Given the description of an element on the screen output the (x, y) to click on. 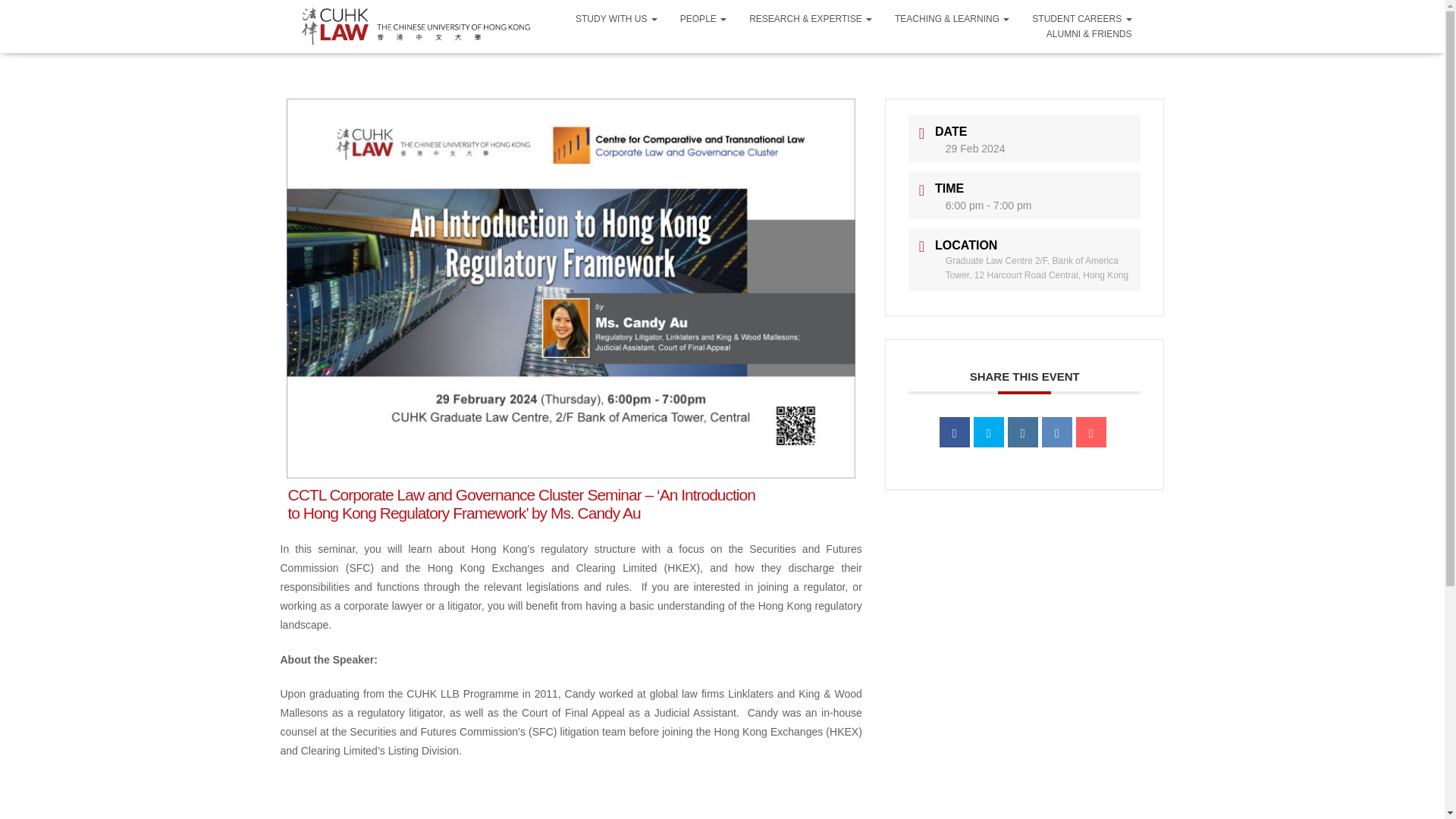
The Chinese University of Hong Kong (418, 26)
Study with us (616, 18)
STUDY WITH US (616, 18)
PEOPLE (703, 18)
